Given the description of an element on the screen output the (x, y) to click on. 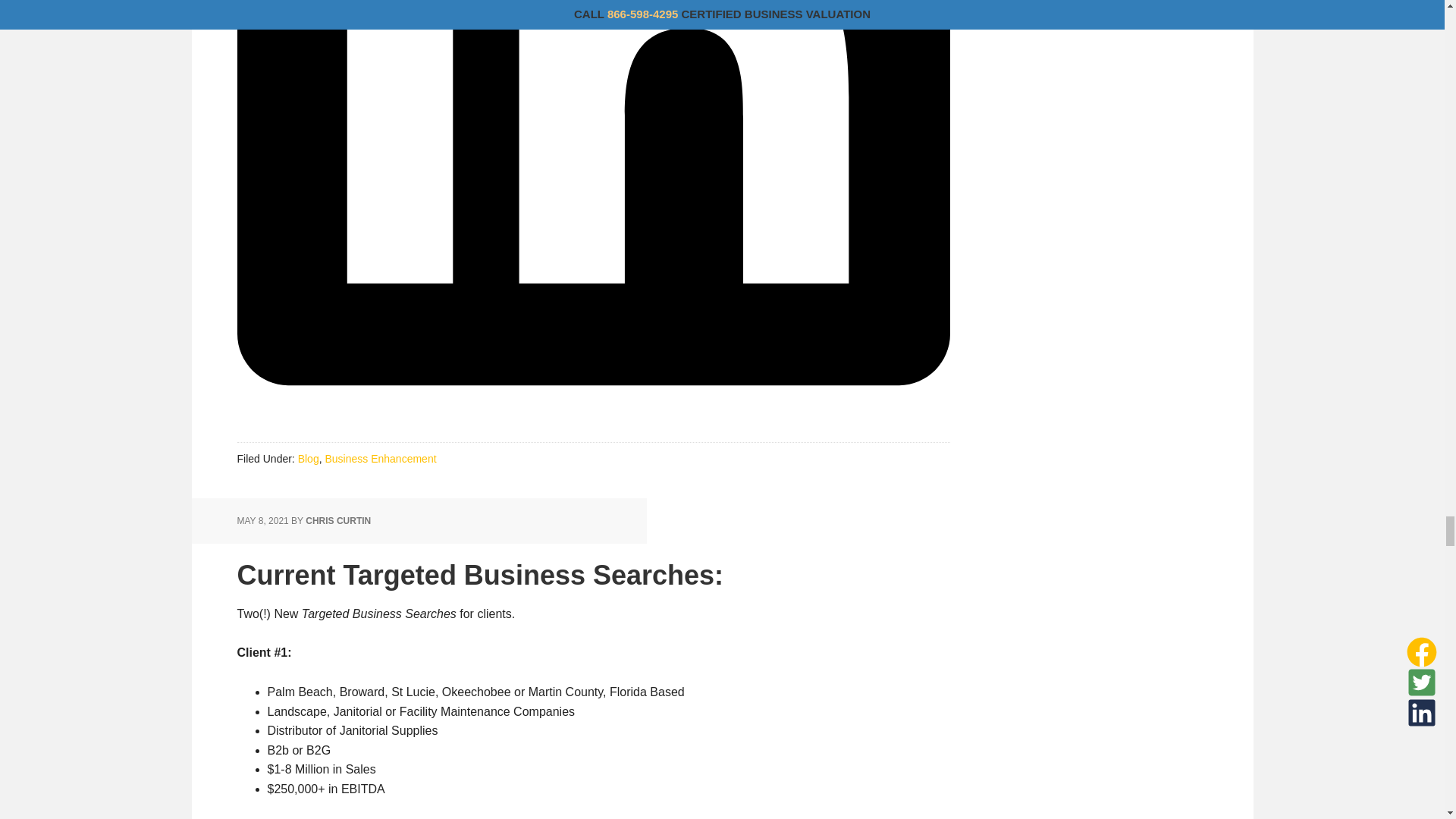
Business Enhancement (379, 458)
Current Targeted Business Searches: (479, 574)
Blog (308, 458)
CHRIS CURTIN (338, 520)
